Given the description of an element on the screen output the (x, y) to click on. 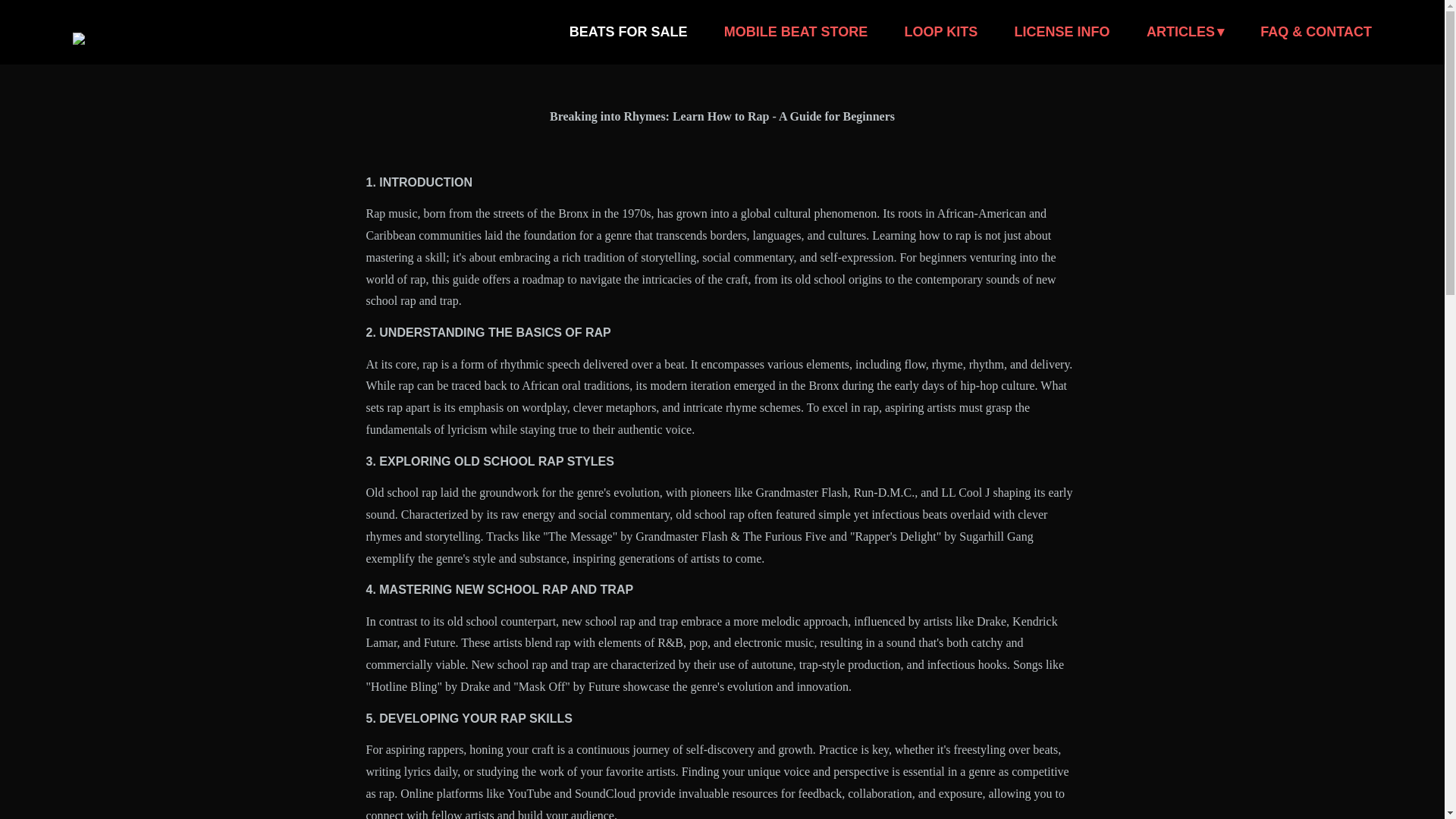
LOOP KITS (941, 31)
LICENSE INFO (1061, 31)
BEATS FOR SALE (628, 31)
MOBILE BEAT STORE (795, 31)
ARTICLES (1185, 31)
